Given the description of an element on the screen output the (x, y) to click on. 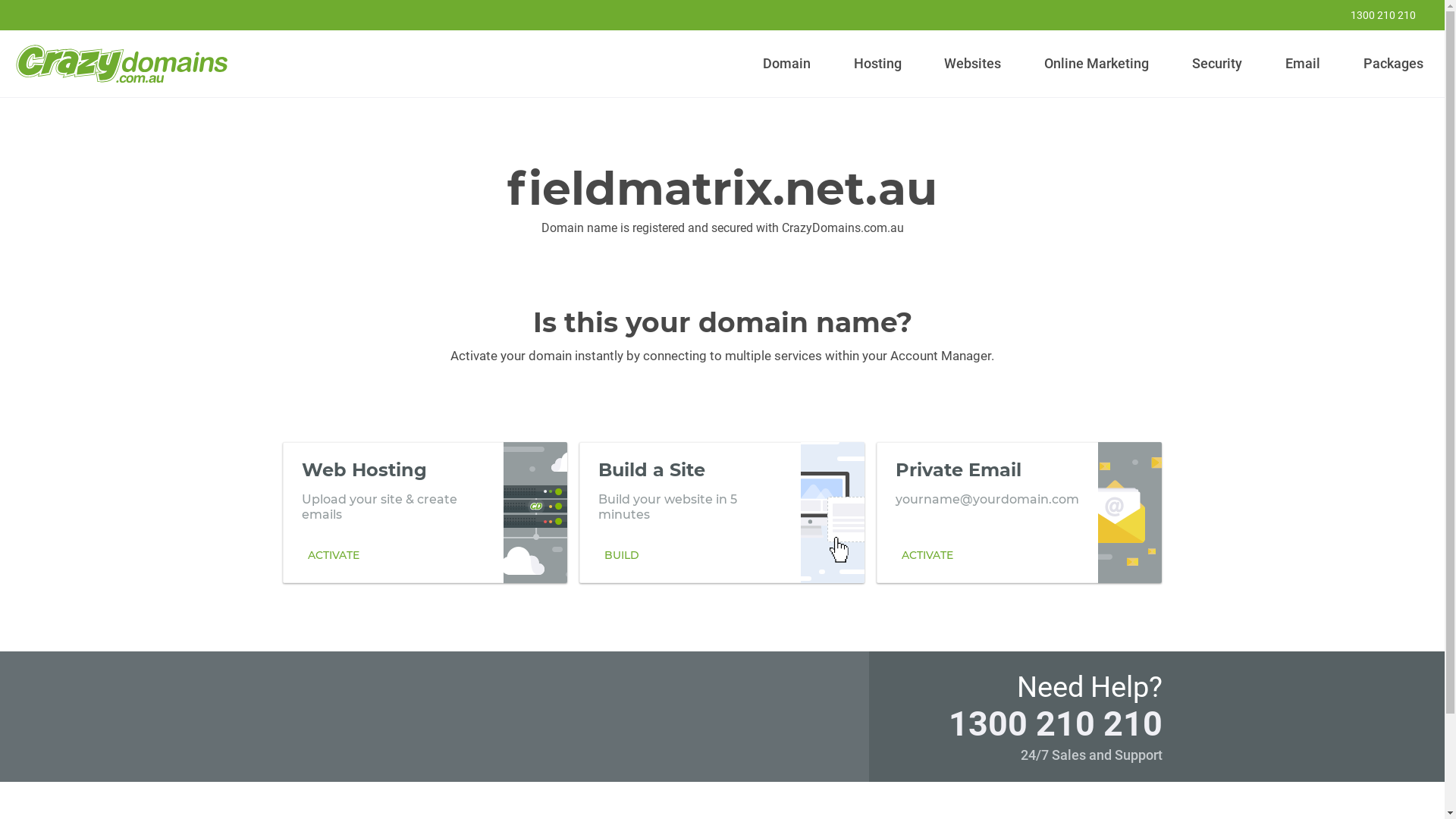
Domain Element type: text (786, 63)
Hosting Element type: text (877, 63)
Email Element type: text (1302, 63)
Web Hosting
Upload your site & create emails
ACTIVATE Element type: text (424, 511)
Online Marketing Element type: text (1096, 63)
Private Email
yourname@yourdomain.com
ACTIVATE Element type: text (1018, 511)
Security Element type: text (1217, 63)
Websites Element type: text (972, 63)
Packages Element type: text (1392, 63)
Build a Site
Build your website in 5 minutes
BUILD Element type: text (721, 511)
1300 210 210 Element type: text (1054, 723)
1300 210 210 Element type: text (1373, 15)
